Given the description of an element on the screen output the (x, y) to click on. 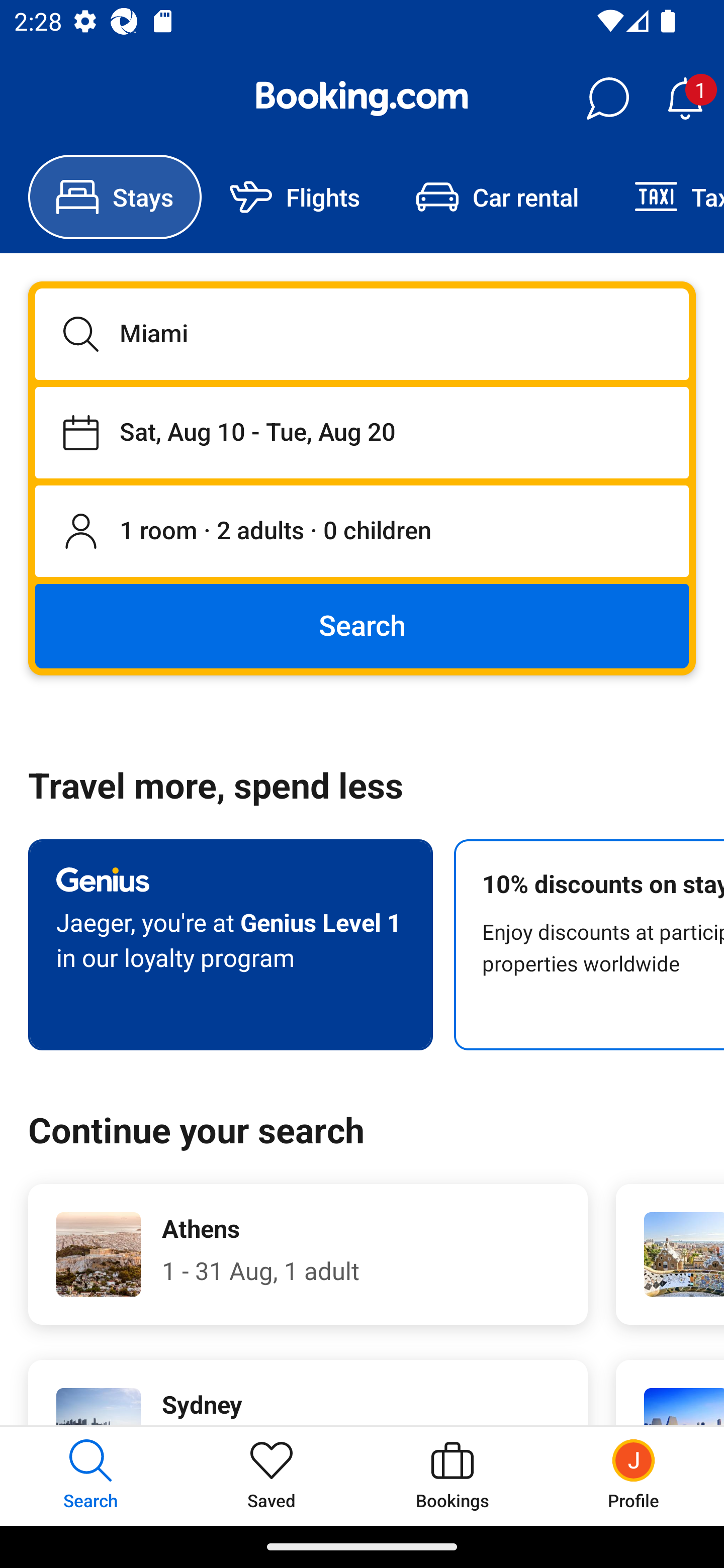
Messages (607, 98)
Notifications (685, 98)
Stays (114, 197)
Flights (294, 197)
Car rental (497, 197)
Taxi (665, 197)
Miami (361, 333)
Staying from Sat, Aug 10 until Tue, Aug 20 (361, 432)
1 room, 2 adults, 0 children (361, 531)
Search (361, 625)
Athens 1 - 31 Aug, 1 adult (307, 1253)
Saved (271, 1475)
Bookings (452, 1475)
Profile (633, 1475)
